Given the description of an element on the screen output the (x, y) to click on. 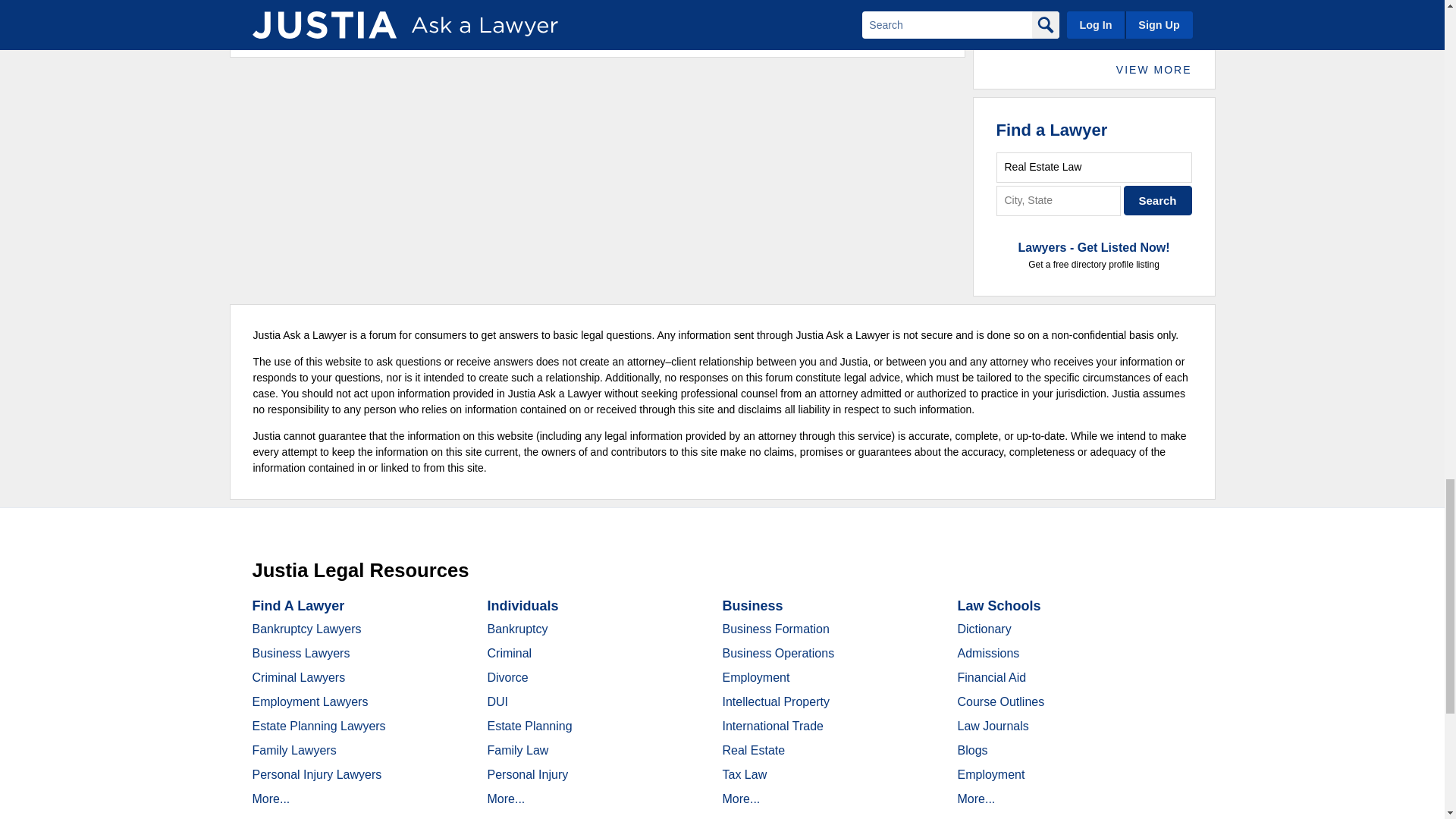
Search (1158, 200)
Ask a Lawyer - Leaderboard - Lawyer Stats (1127, 6)
Legal Issue or Lawyer Name (1093, 166)
Search (1158, 200)
City, State (1058, 200)
Ask a Lawyer - Leaderboard - Lawyer Photo (1021, 14)
Real Estate Law (1093, 166)
